Given the description of an element on the screen output the (x, y) to click on. 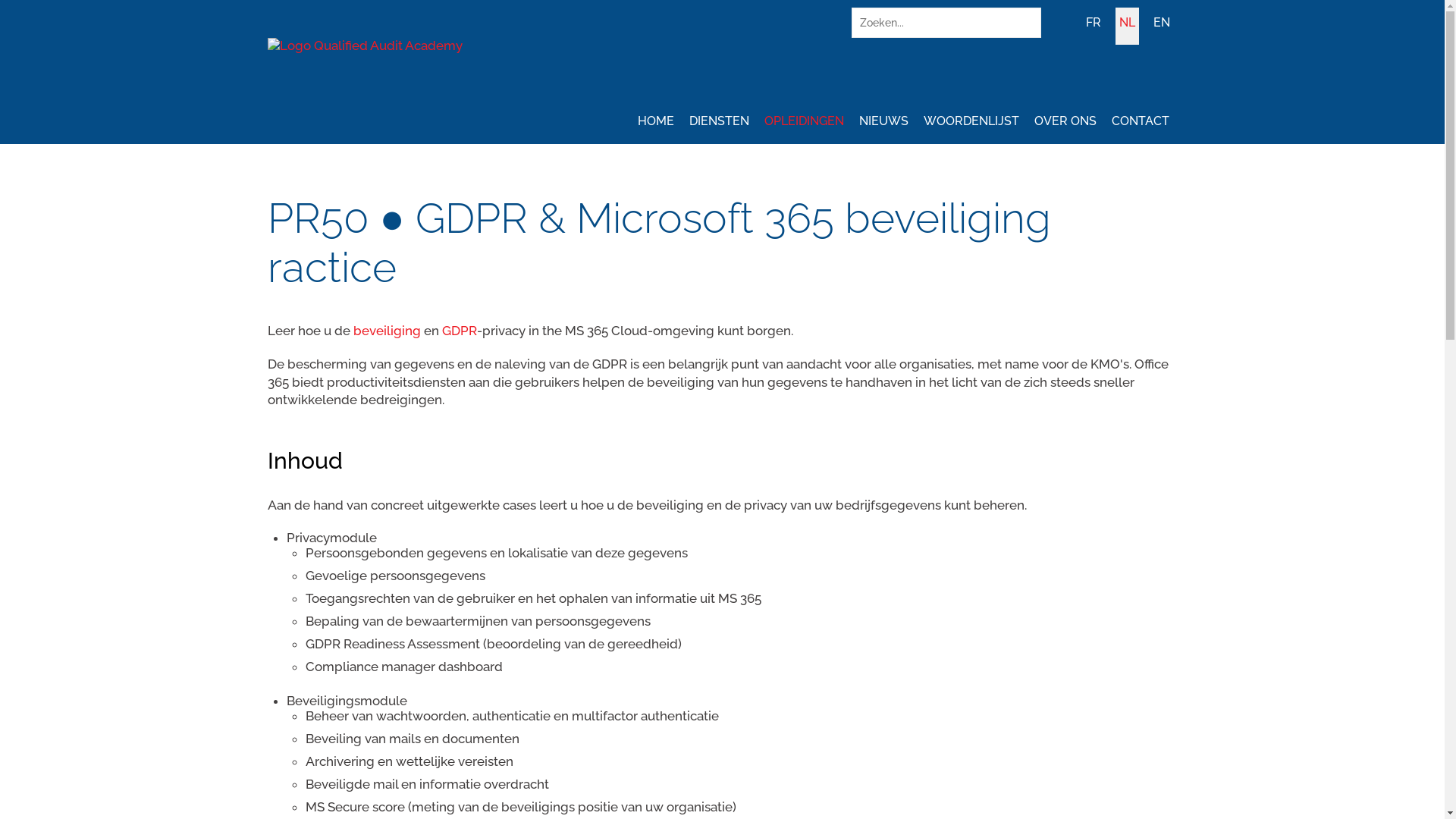
OVER ONS Element type: text (1065, 124)
GDPR Element type: text (458, 330)
HOME Element type: text (655, 124)
OPLEIDINGEN Element type: text (803, 124)
FR Element type: text (1092, 25)
CONTACT Element type: text (1140, 124)
beveiliging Element type: text (386, 330)
EN Element type: text (1161, 25)
NIEUWS Element type: text (883, 124)
WOORDENLIJST Element type: text (970, 124)
NL Element type: text (1126, 25)
Zoeken Element type: text (1025, 22)
DIENSTEN Element type: text (719, 124)
